Given the description of an element on the screen output the (x, y) to click on. 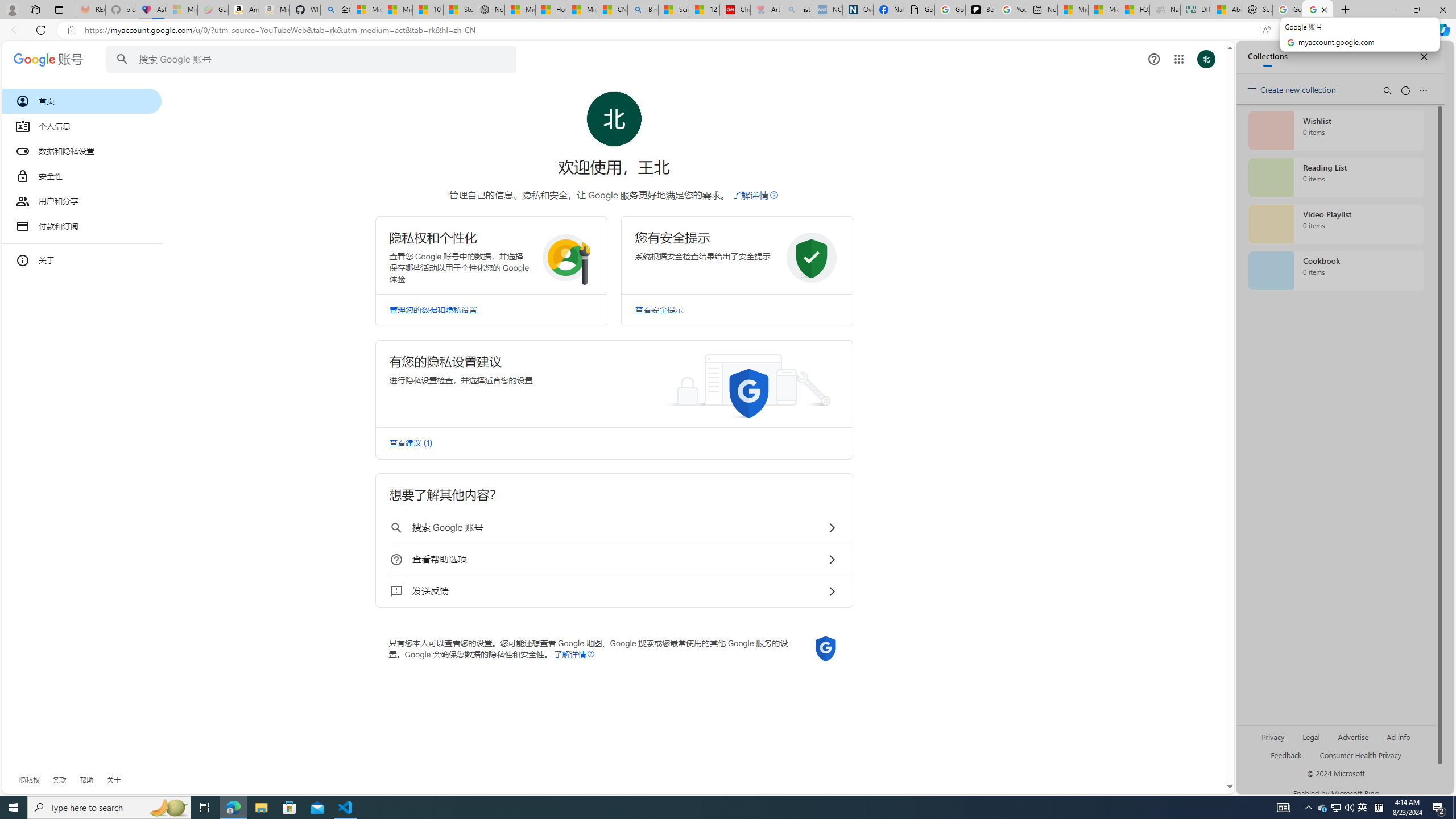
Class: RlFDUe N5YmOc kJXJmd bvW4md I6g62c (614, 383)
AutomationID: genId96 (1285, 759)
